Given the description of an element on the screen output the (x, y) to click on. 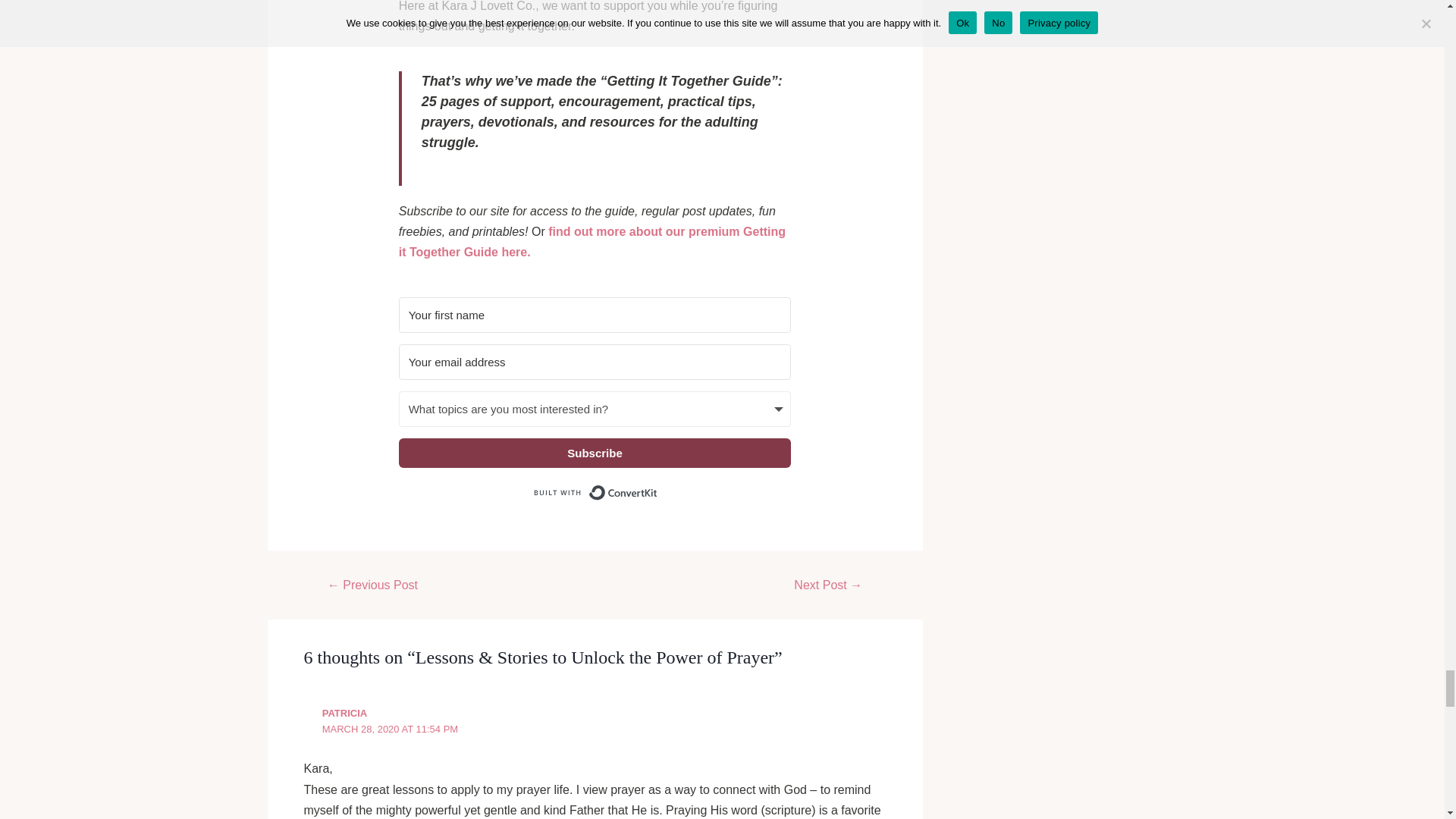
Why You Should Keep a Gratitude Journal (828, 585)
5 Strategies for How to Remove Fear from Mind and Heart (371, 585)
